Given the description of an element on the screen output the (x, y) to click on. 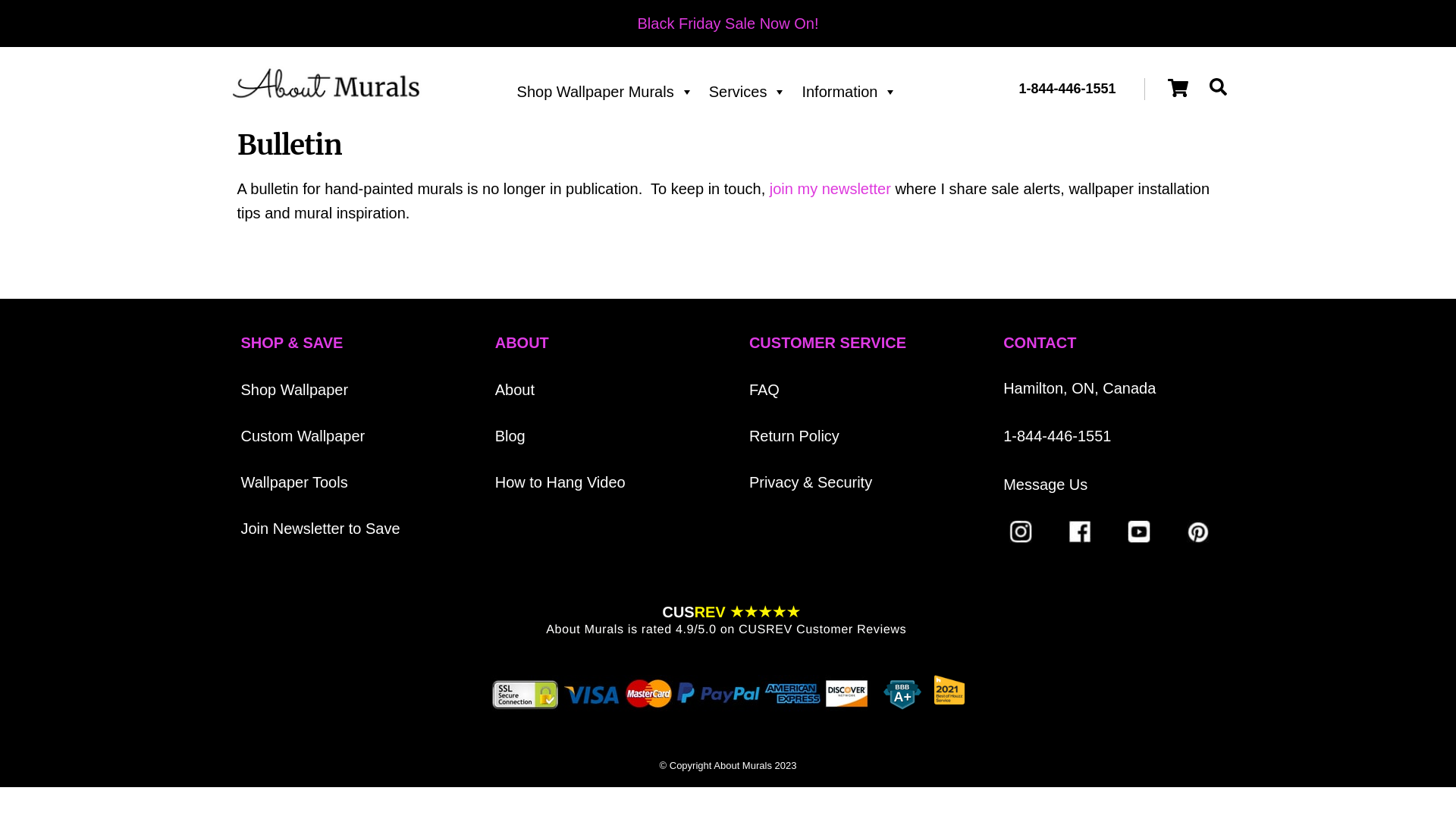
Return Policy Element type: text (794, 435)
Custom Wallpaper Element type: text (303, 435)
Information Element type: text (848, 91)
Message Us Element type: text (1045, 484)
About Element type: text (514, 389)
FAQ Element type: text (764, 389)
Services Element type: text (747, 91)
Blog Element type: text (510, 435)
Join Newsletter to Save Element type: text (320, 528)
Shop Wallpaper Murals Element type: text (605, 91)
Wallpaper Tools Element type: text (294, 481)
1-844-446-1551 Element type: text (1067, 88)
How to Hang Video Element type: text (560, 481)
Shop Wallpaper Element type: text (294, 389)
1-844-446-1551 Element type: text (1056, 435)
join my newsletter Element type: text (830, 188)
Privacy & Security Element type: text (810, 481)
